Given the description of an element on the screen output the (x, y) to click on. 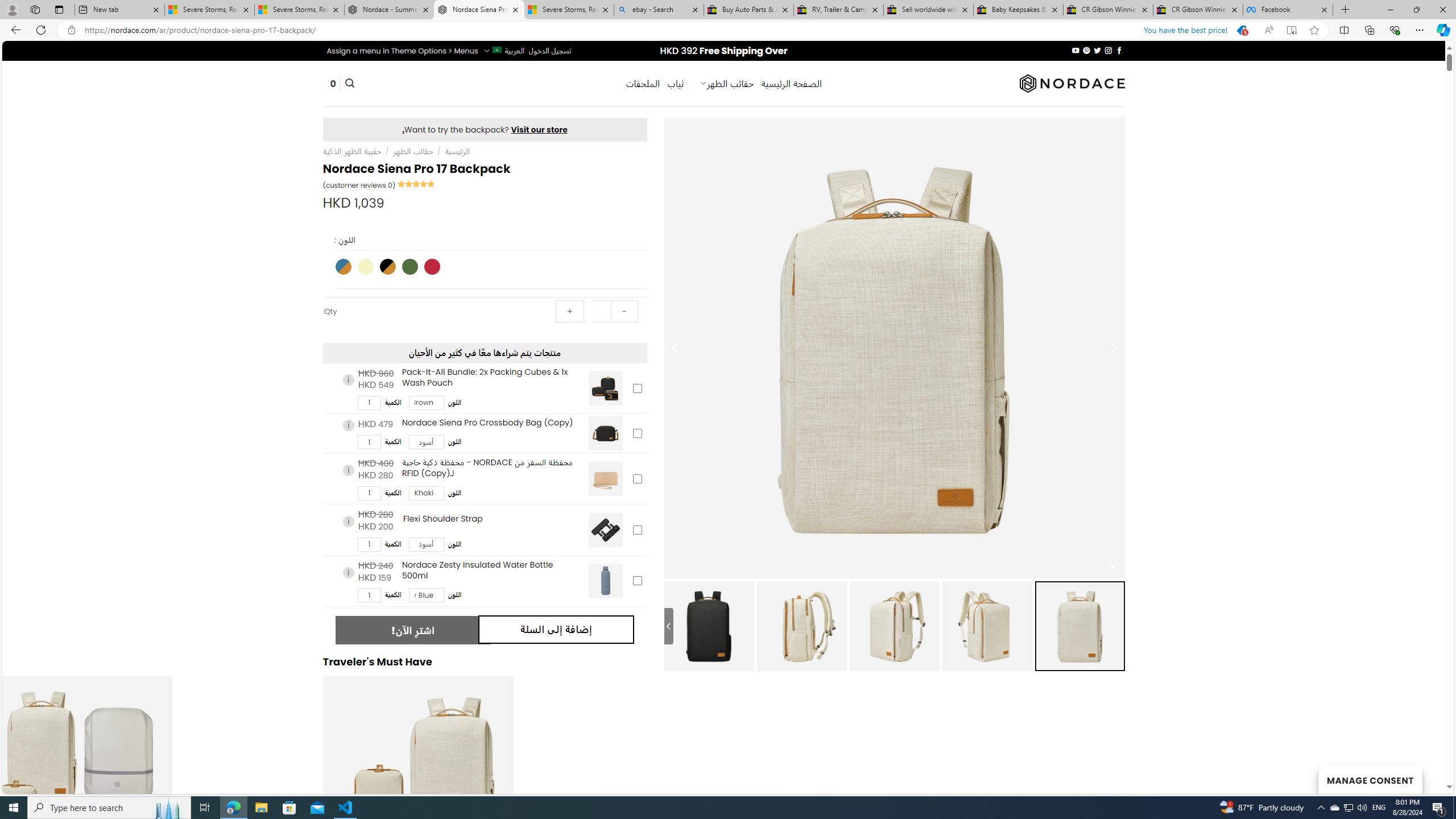
Follow on Instagram (1108, 50)
Visit our store. (484, 129)
 0 (333, 83)
You have the best price! (1224, 29)
(0 customer reviews) (358, 184)
